Given the description of an element on the screen output the (x, y) to click on. 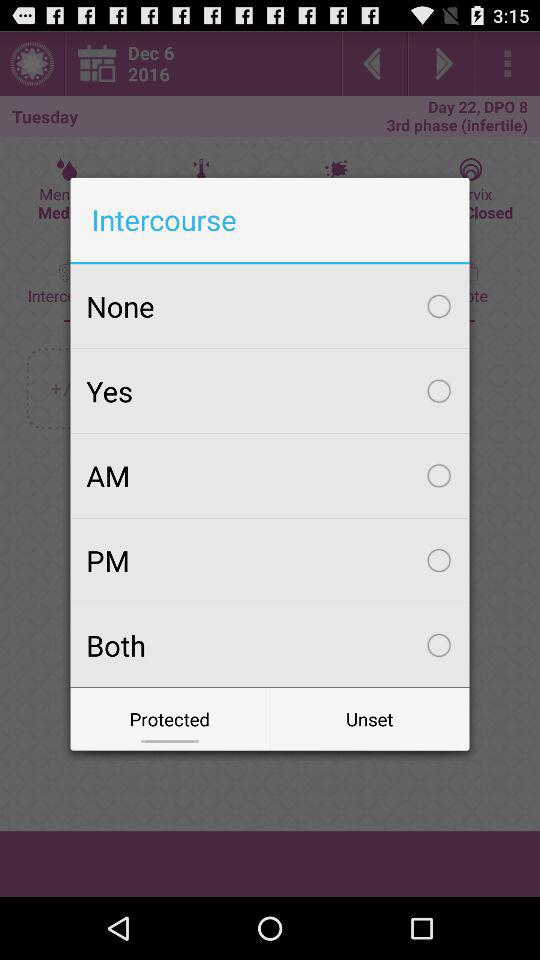
flip to protected icon (169, 718)
